Given the description of an element on the screen output the (x, y) to click on. 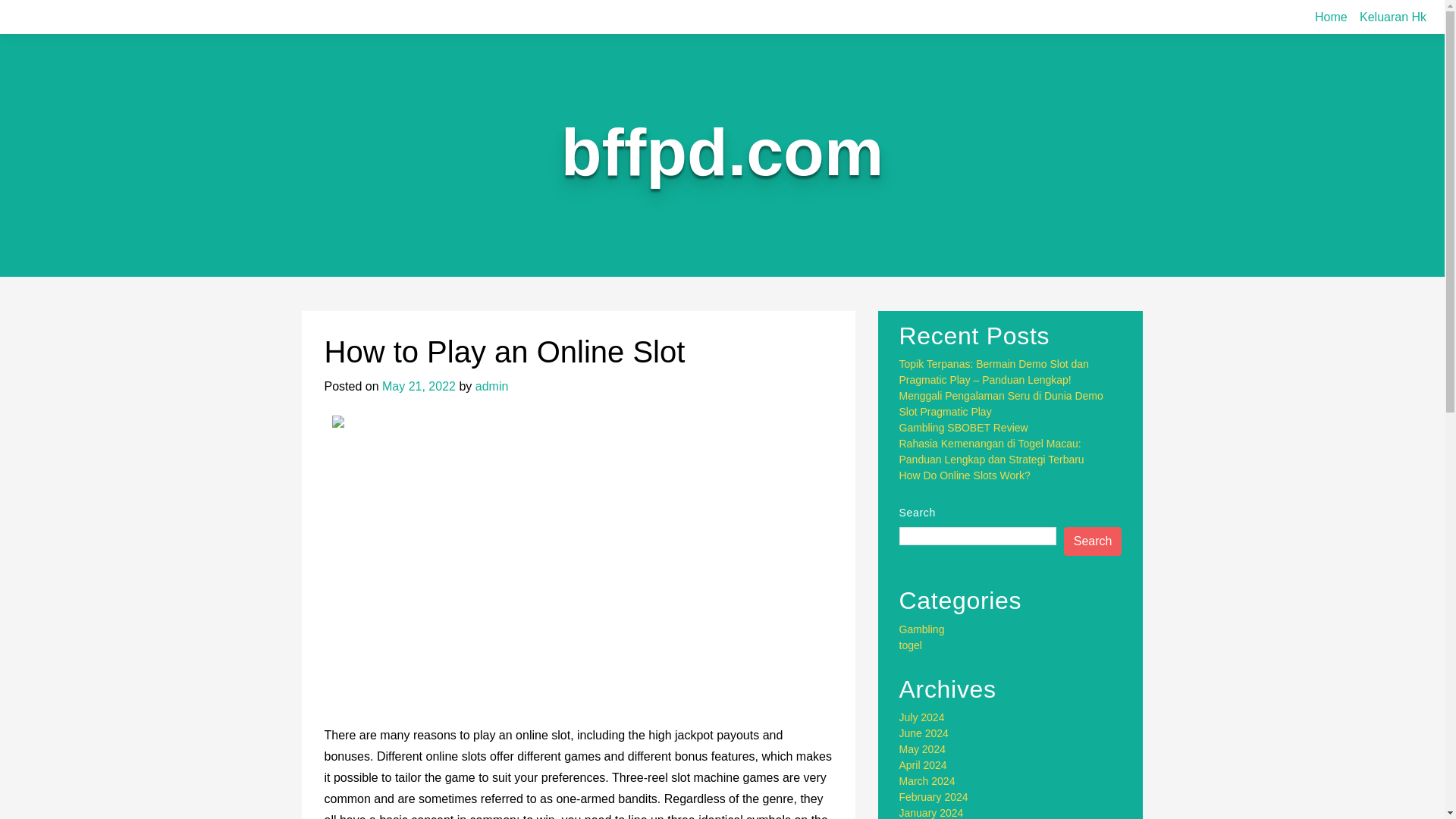
June 2024 (924, 733)
March 2024 (927, 780)
May 21, 2022 (418, 386)
April 2024 (923, 765)
February 2024 (933, 797)
Home (1331, 16)
Gambling SBOBET Review (963, 427)
admin (492, 386)
Home (1331, 16)
Menggali Pengalaman Seru di Dunia Demo Slot Pragmatic Play (1001, 403)
Gambling (921, 629)
Keluaran Hk (1393, 16)
January 2024 (931, 812)
togel (910, 645)
